Given the description of an element on the screen output the (x, y) to click on. 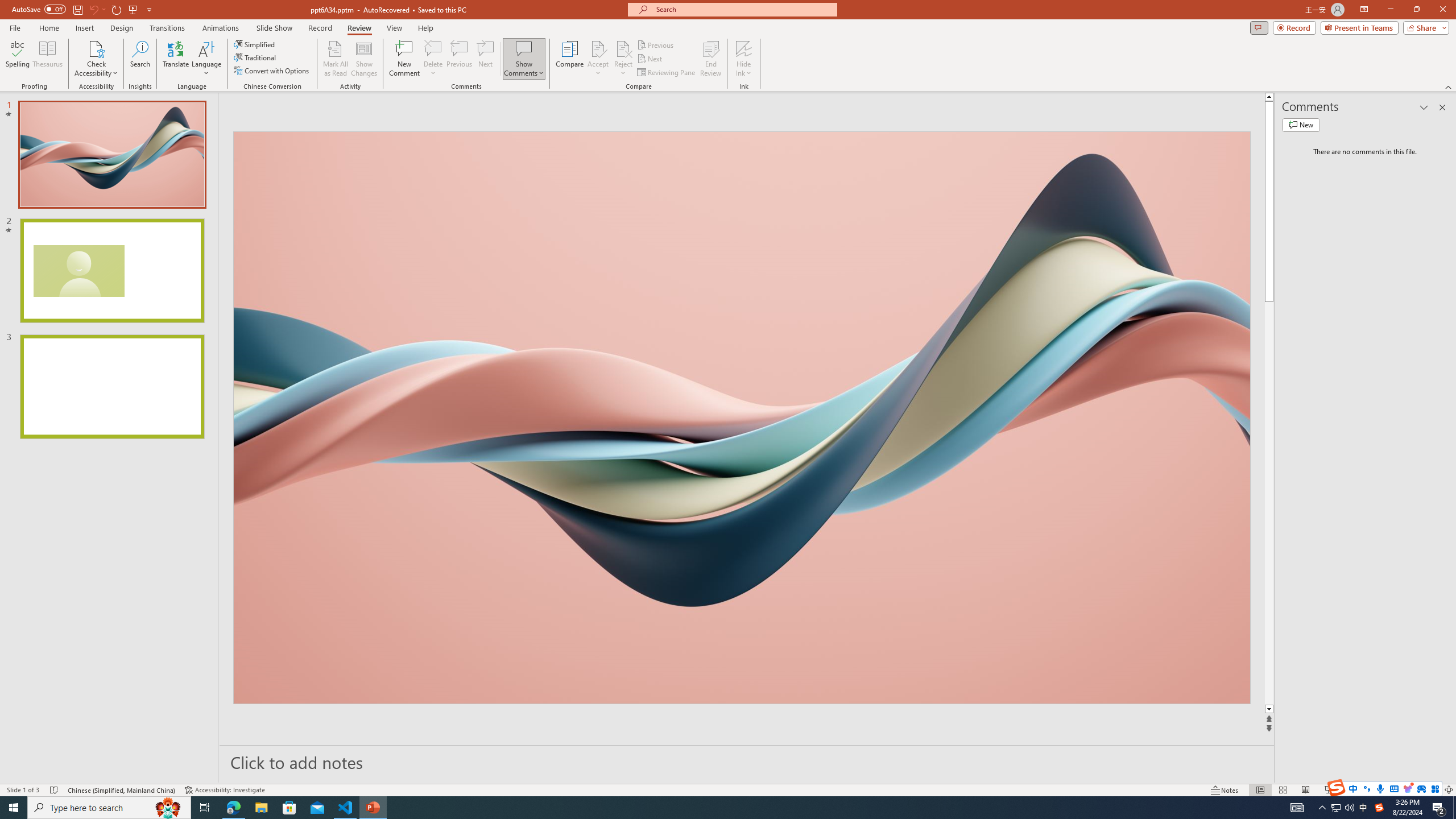
Translate (175, 58)
Next (649, 58)
New comment (1300, 124)
Check Accessibility (95, 58)
Spelling... (17, 58)
Hide Ink (743, 48)
Accept Change (598, 48)
Traditional (255, 56)
Language (206, 58)
